Given the description of an element on the screen output the (x, y) to click on. 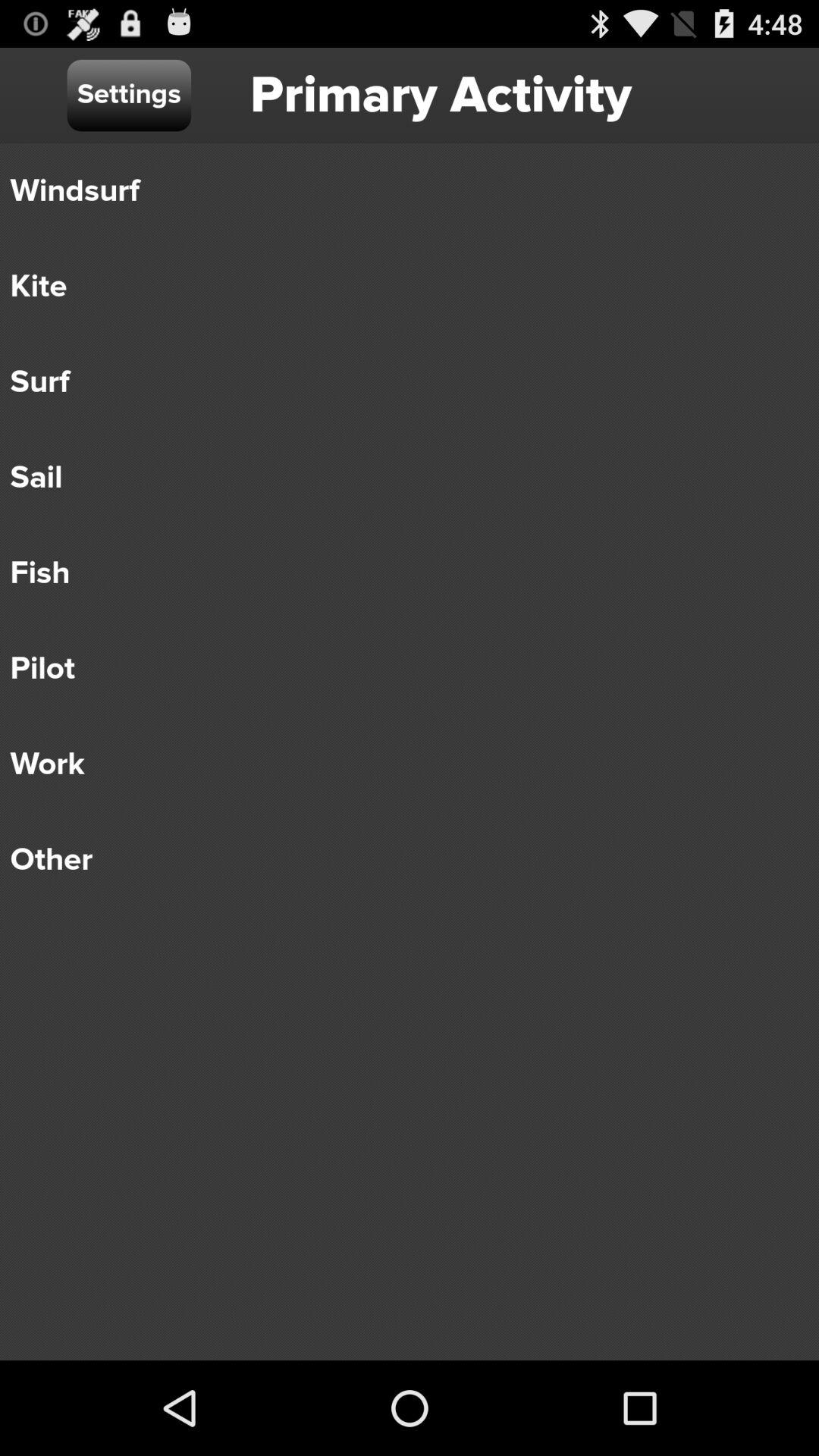
launch the item below pilot (399, 763)
